Given the description of an element on the screen output the (x, y) to click on. 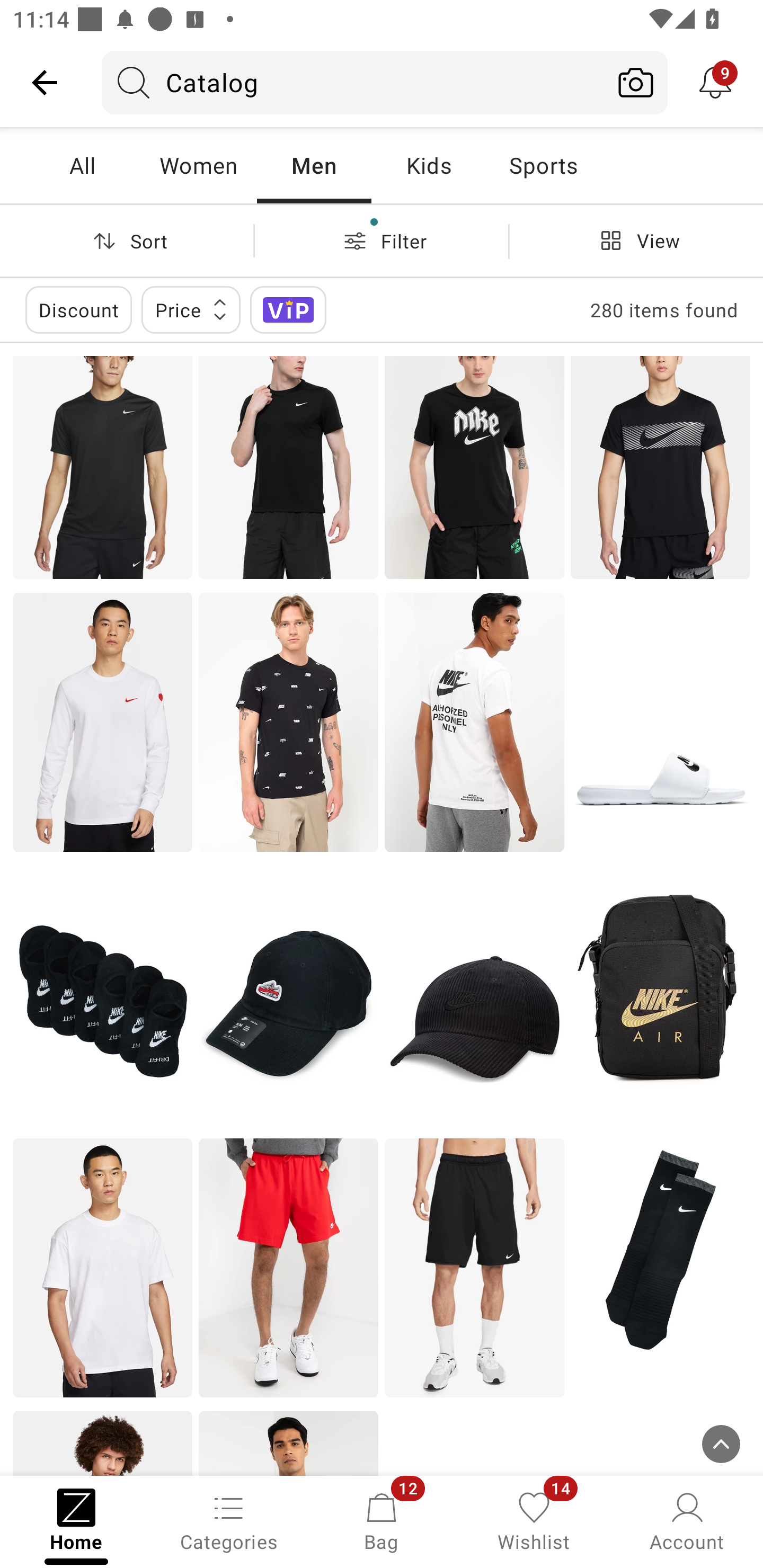
Navigate up (44, 82)
Catalog (352, 82)
All (82, 165)
Women (198, 165)
Kids (428, 165)
Sports (543, 165)
Sort (126, 240)
Filter (381, 240)
View (636, 240)
Discount (78, 309)
Price (190, 309)
Categories (228, 1519)
Bag, 12 new notifications Bag (381, 1519)
Wishlist, 14 new notifications Wishlist (533, 1519)
Account (686, 1519)
